Given the description of an element on the screen output the (x, y) to click on. 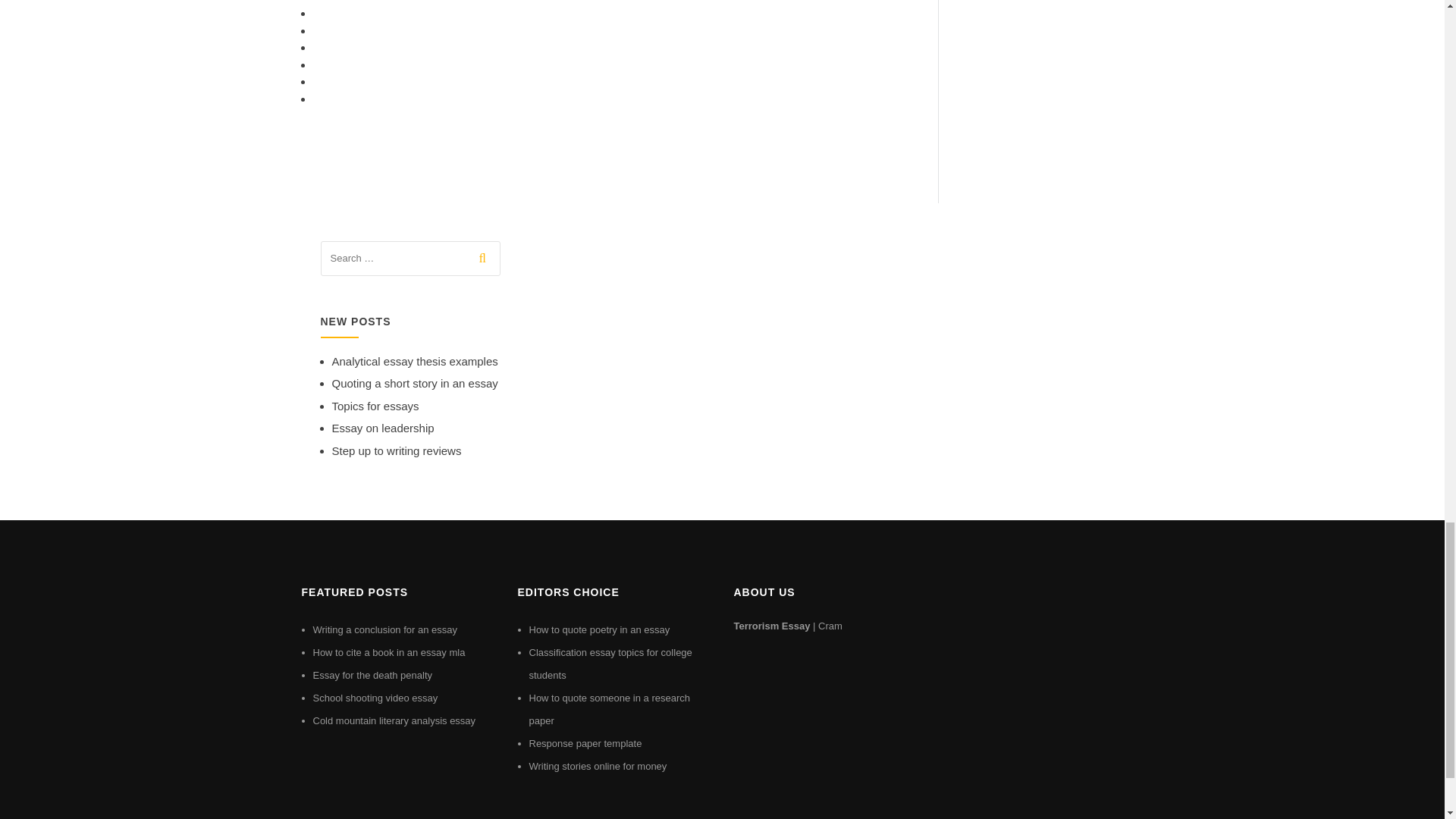
Analytical essay thesis examples (414, 360)
Topics for essays (375, 405)
Response paper template (585, 743)
How to quote poetry in an essay (599, 629)
Quoting a short story in an essay (414, 382)
Writing a conclusion for an essay (385, 629)
Writing stories online for money (597, 766)
Step up to writing reviews (396, 450)
Cold mountain literary analysis essay (394, 720)
How to quote someone in a research paper (609, 709)
Classification essay topics for college students (611, 663)
Essay for the death penalty (372, 674)
School shooting video essay (375, 697)
Essay on leadership (382, 427)
How to cite a book in an essay mla (388, 652)
